Given the description of an element on the screen output the (x, y) to click on. 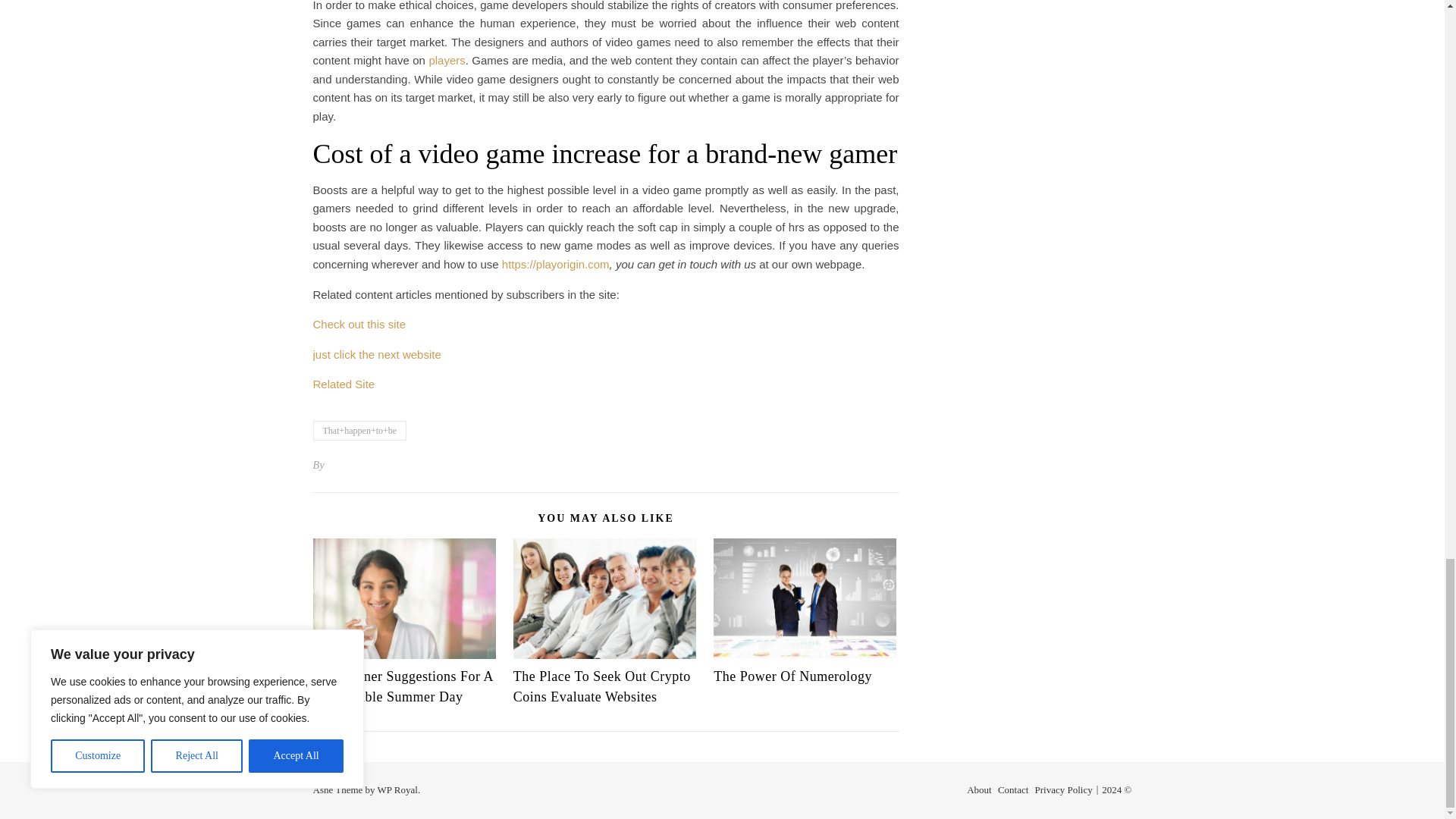
The Place To Seek Out Crypto Coins Evaluate Websites (601, 686)
Check out this site (359, 323)
Related Site (343, 383)
just click the next website (377, 354)
players (446, 60)
The Power Of Numerology (792, 676)
Five Dinner Suggestions For A Fashionable Summer Day (403, 686)
